Given the description of an element on the screen output the (x, y) to click on. 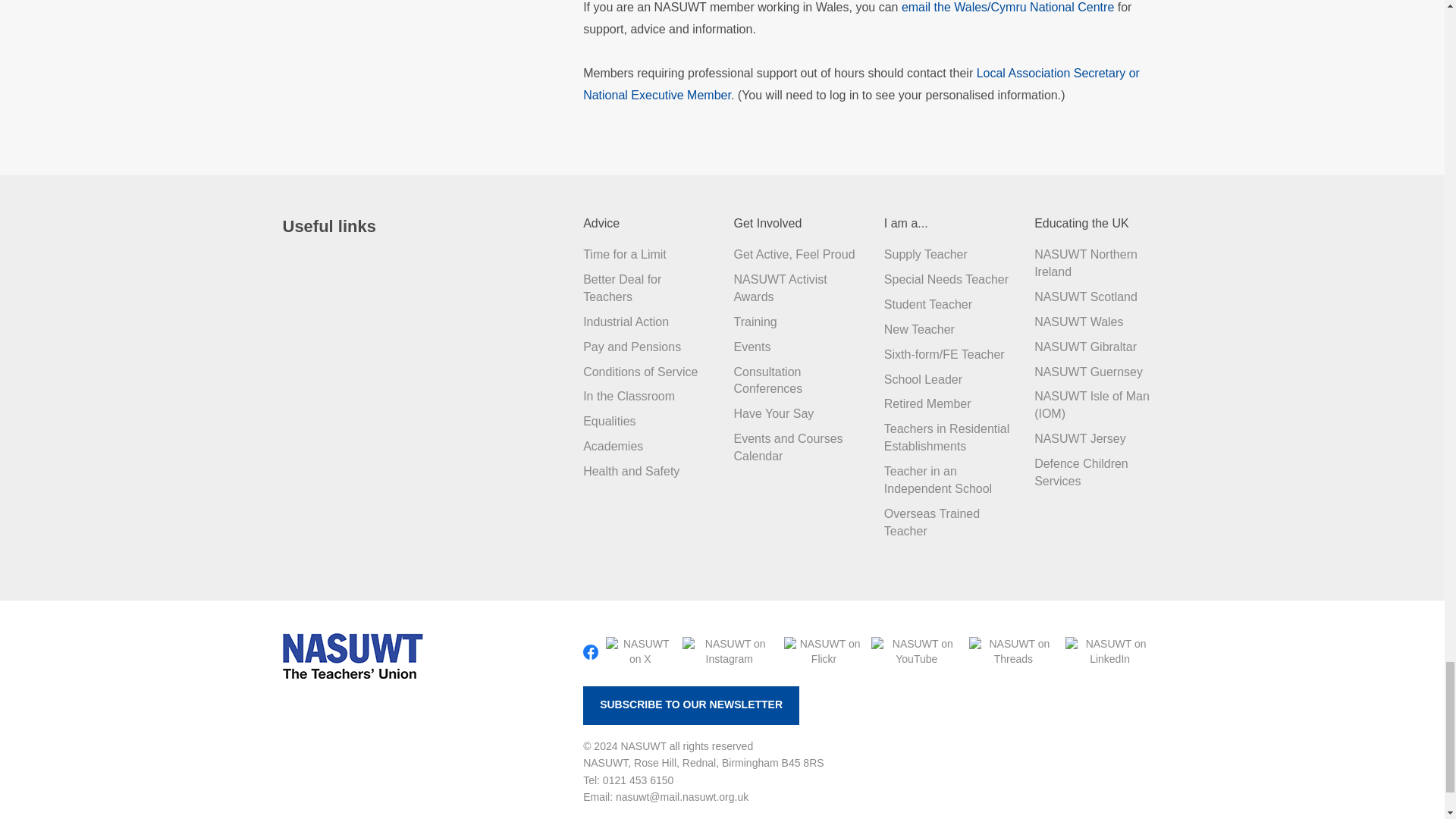
Special Needs Teacher (946, 278)
Equalities (608, 420)
Conditions of Service (640, 371)
Academies (613, 445)
School Leader (922, 379)
NASUWT Activist Awards (780, 287)
Events and Courses Calendar (788, 447)
Get Active, Feel Proud (793, 254)
Student Teacher (927, 304)
Pay and Pensions (632, 346)
